Given the description of an element on the screen output the (x, y) to click on. 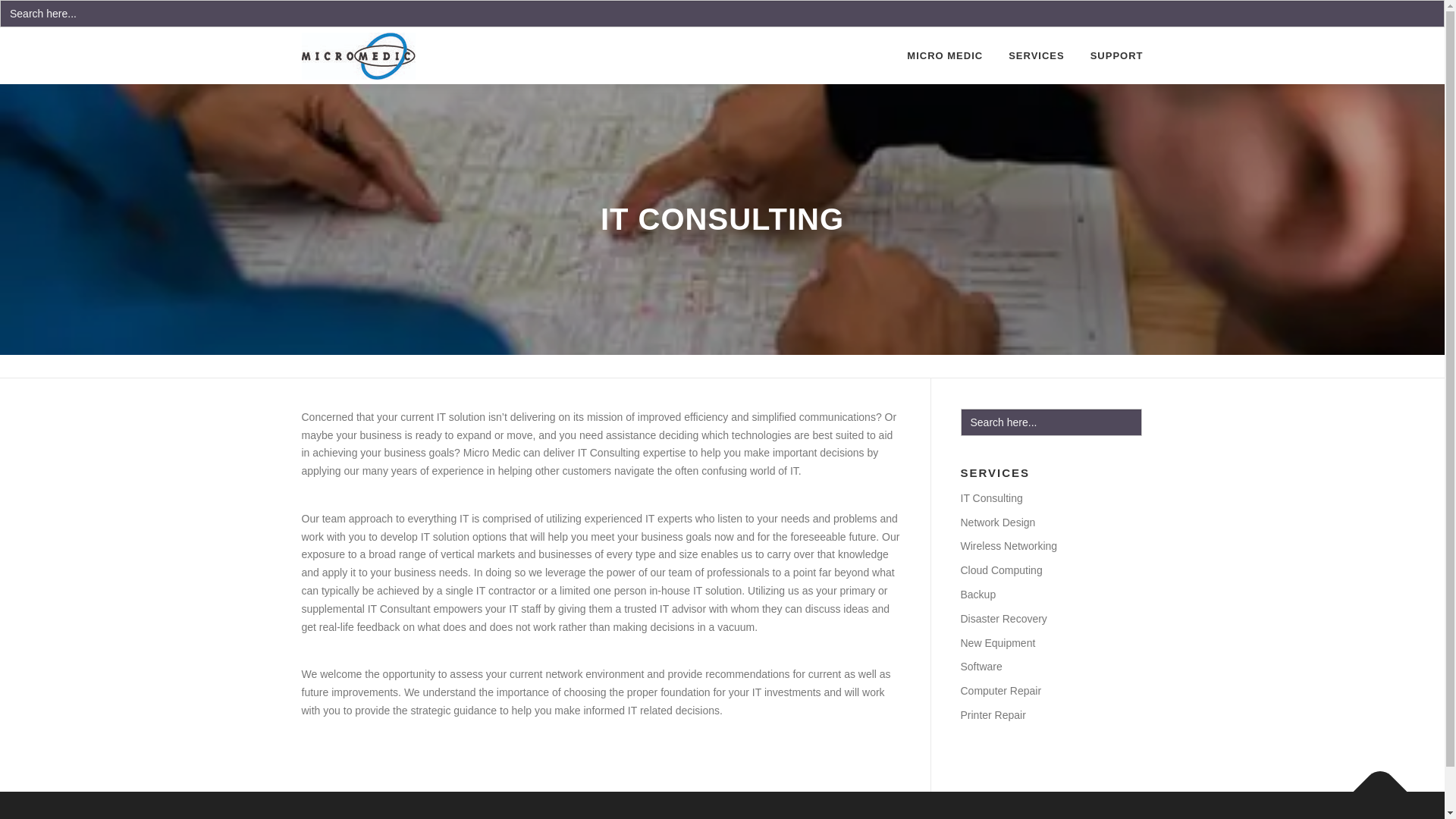
IT Consulting (990, 498)
Wireless Networking (1008, 545)
MICRO MEDIC (944, 55)
Disaster Recovery (1002, 618)
Network Design (997, 522)
Backup (977, 594)
Software (980, 666)
Printer Repair (992, 715)
Cloud Computing (1000, 570)
SUPPORT (1109, 55)
Back To Top (1372, 783)
Computer Repair (1000, 690)
New Equipment (997, 643)
SERVICES (1036, 55)
